Given the description of an element on the screen output the (x, y) to click on. 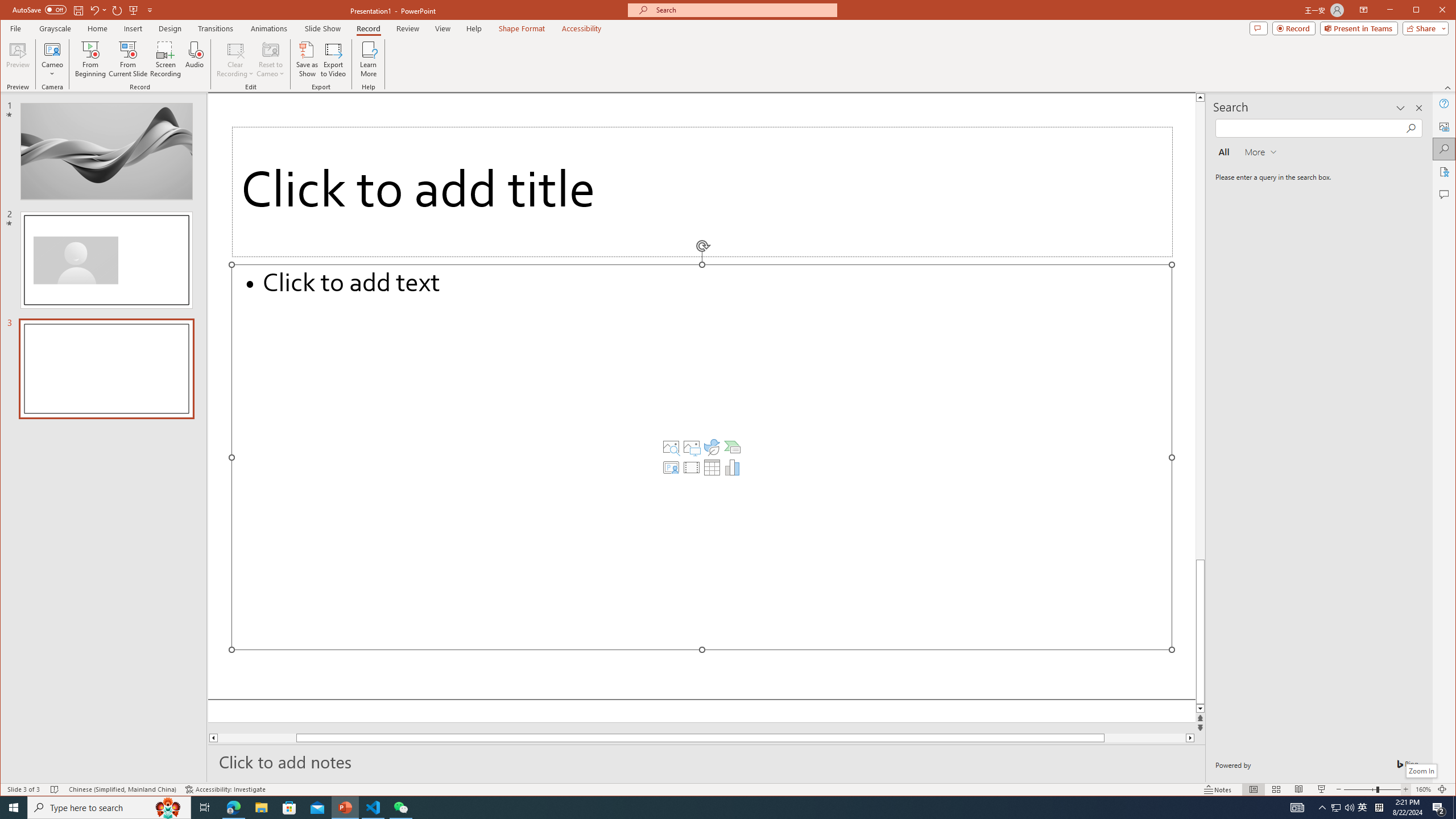
From Current Slide... (127, 59)
Visual Studio Code - 1 running window (373, 807)
Alt Text (1444, 125)
Accessibility Checker Accessibility: Investigate (225, 789)
Zoom In (1405, 789)
Insert a SmartArt Graphic (732, 447)
Insert Table (711, 467)
Quick Access Toolbar (83, 9)
Preview (17, 59)
Zoom In (1421, 771)
Share (1422, 27)
Task View (204, 807)
Title TextBox (701, 191)
Pictures (691, 447)
